Given the description of an element on the screen output the (x, y) to click on. 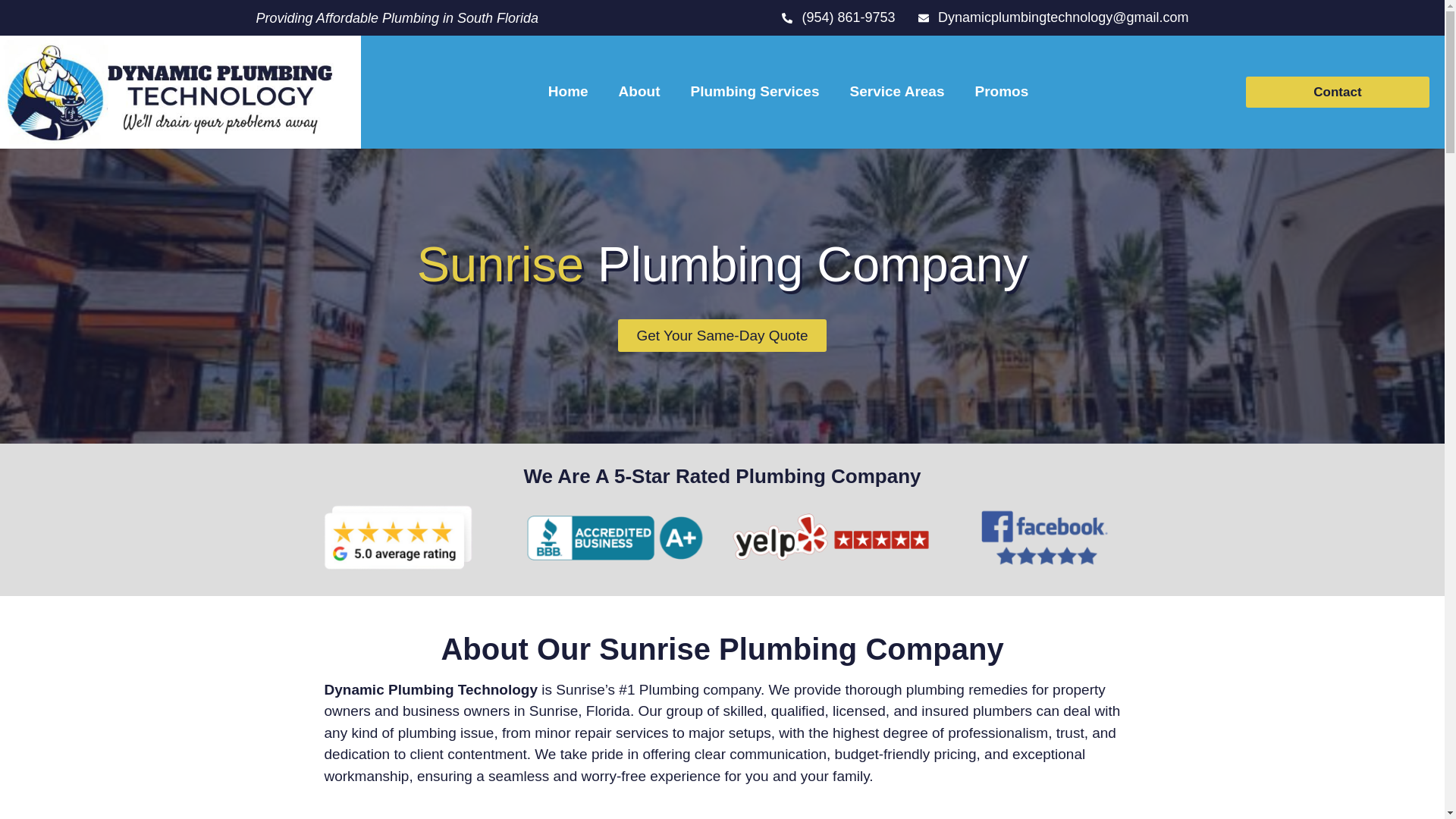
Plumbing Services (754, 91)
Service Areas (896, 91)
Home (568, 91)
About (639, 91)
Promos (1001, 91)
